Given the description of an element on the screen output the (x, y) to click on. 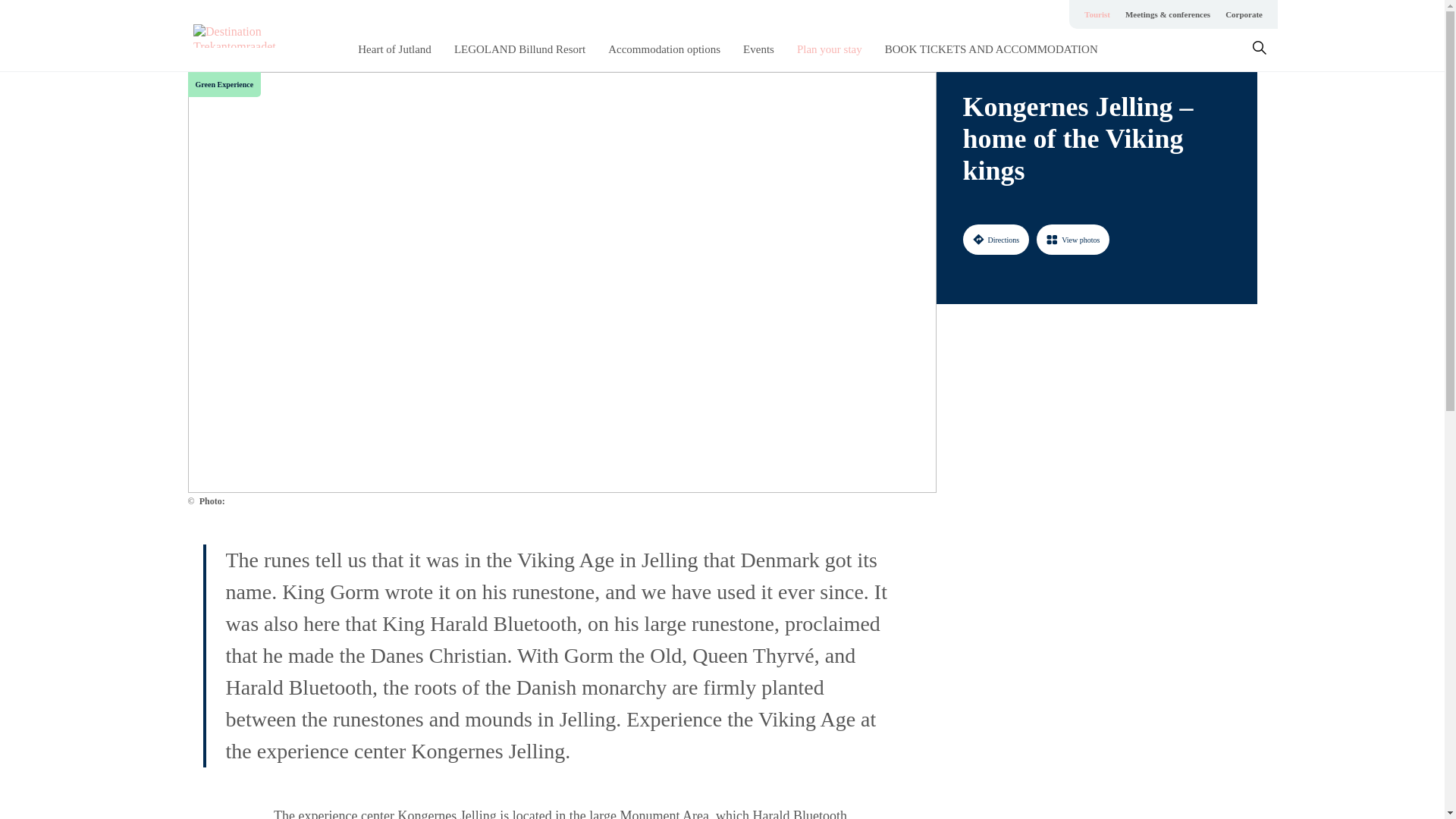
View photos (1072, 239)
LEGOLAND Billund Resort (519, 49)
BOOK TICKETS AND ACCOMMODATION (991, 49)
Go to homepage (253, 35)
Tourist (1097, 14)
Directions (995, 239)
Accommodation options (664, 49)
Plan your stay (828, 49)
Corporate (1243, 14)
Heart of Jutland (394, 49)
